Given the description of an element on the screen output the (x, y) to click on. 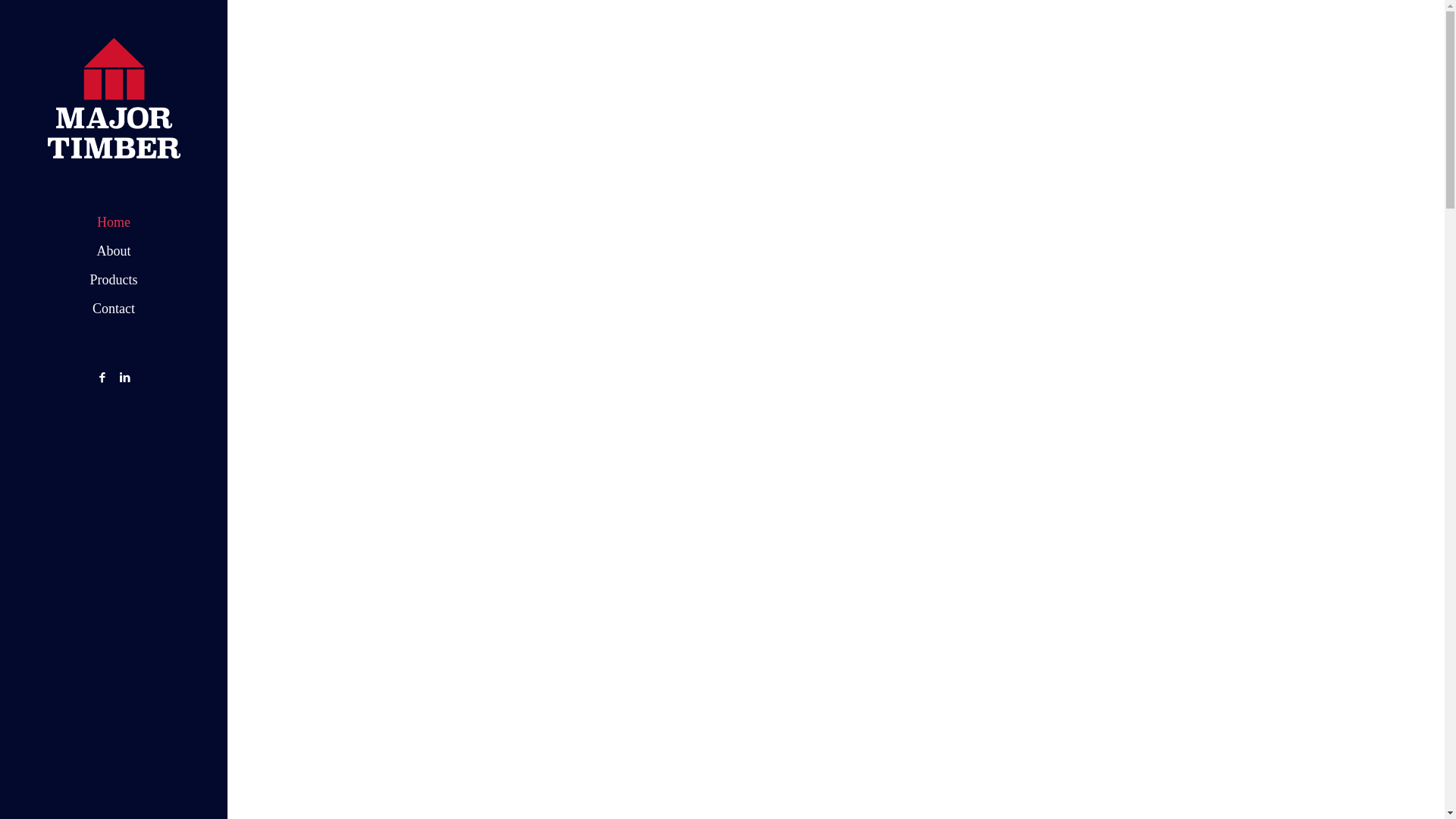
About Element type: text (113, 250)
Linked In Element type: hover (125, 377)
Major Timber Element type: hover (113, 98)
Home Element type: text (113, 221)
Contact Element type: text (113, 308)
Facebook Element type: hover (101, 377)
Products Element type: text (113, 279)
